Given the description of an element on the screen output the (x, y) to click on. 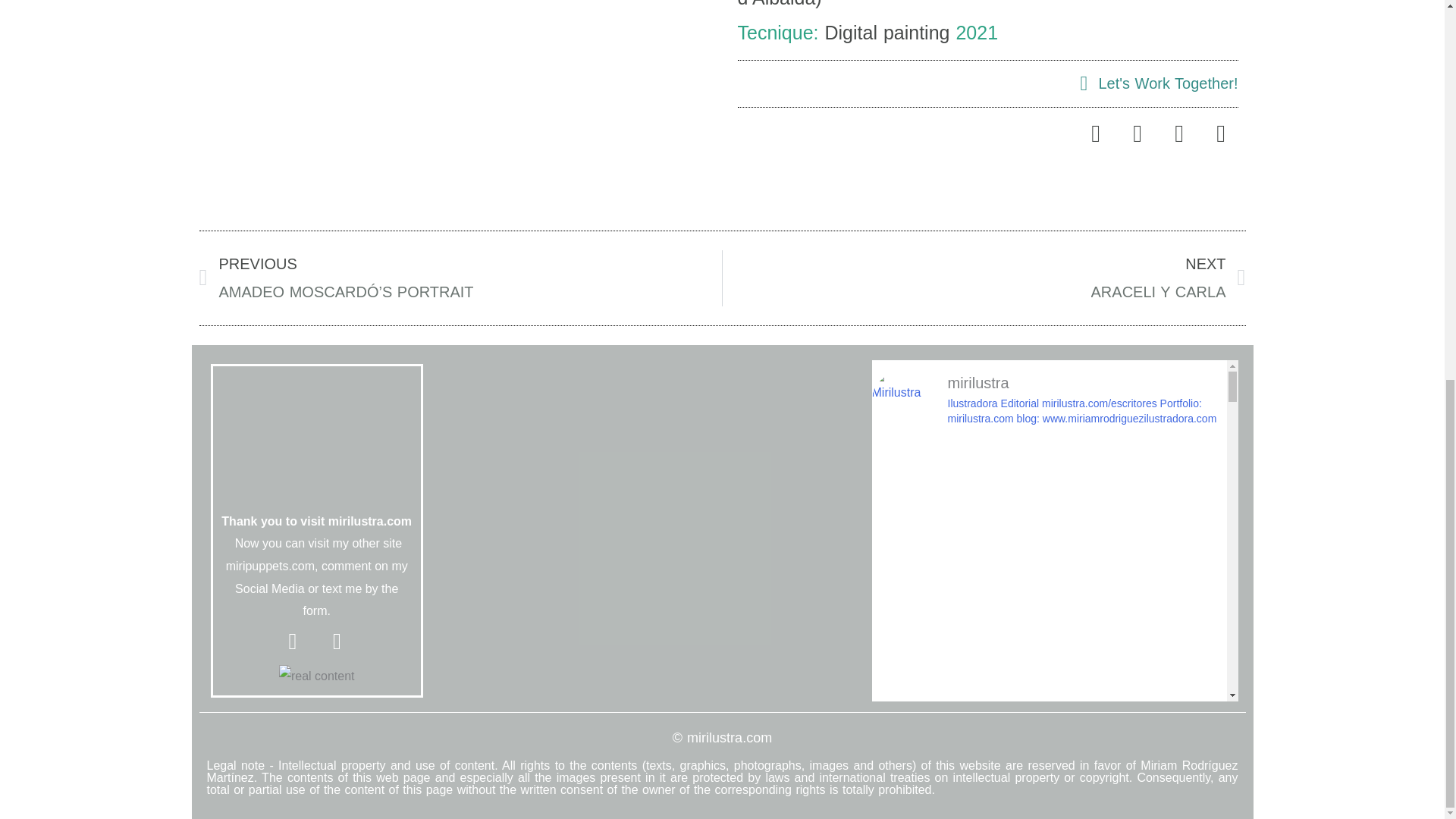
2312226460635.declaration-1-human-real-300.default (984, 278)
Let's Work Together! (317, 676)
